Given the description of an element on the screen output the (x, y) to click on. 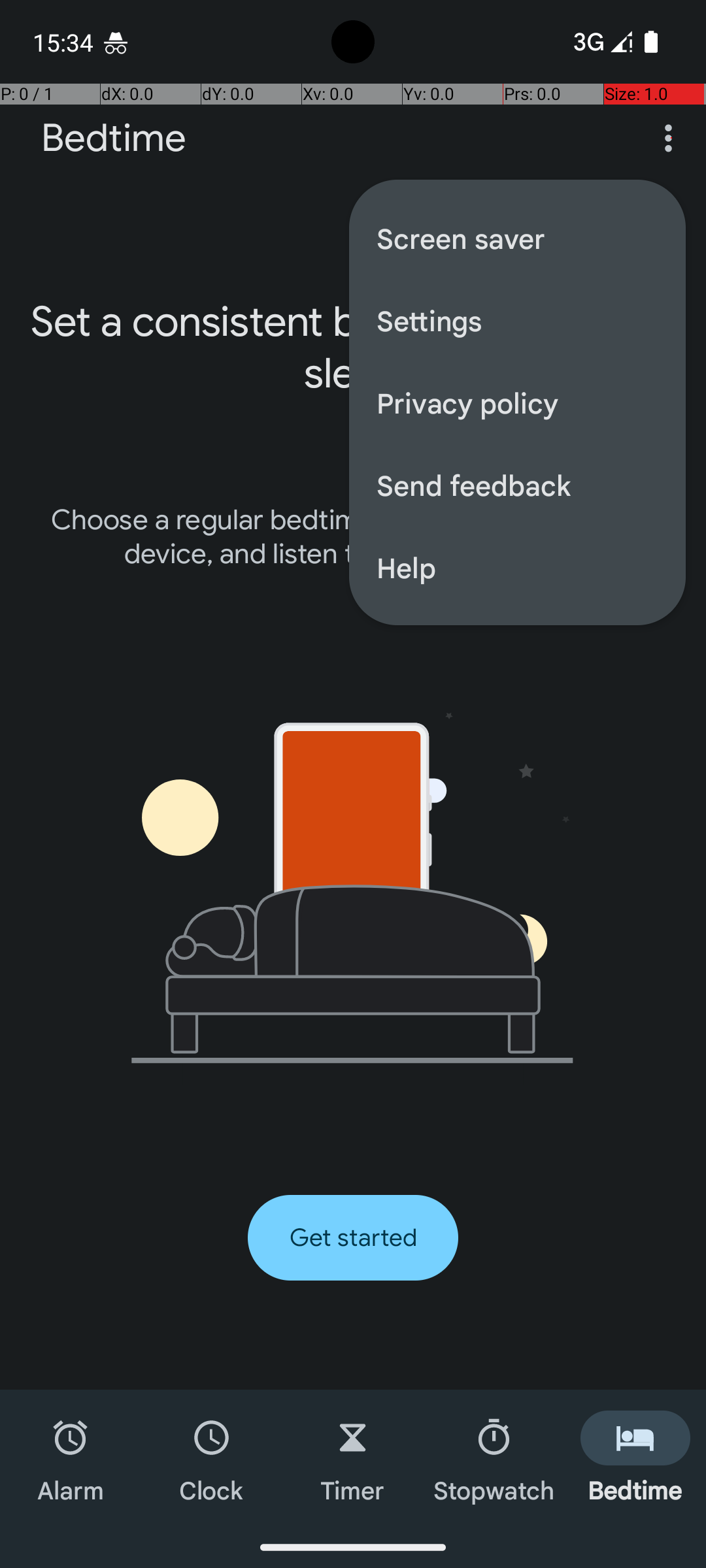
Screen saver Element type: android.widget.TextView (517, 237)
